Given the description of an element on the screen output the (x, y) to click on. 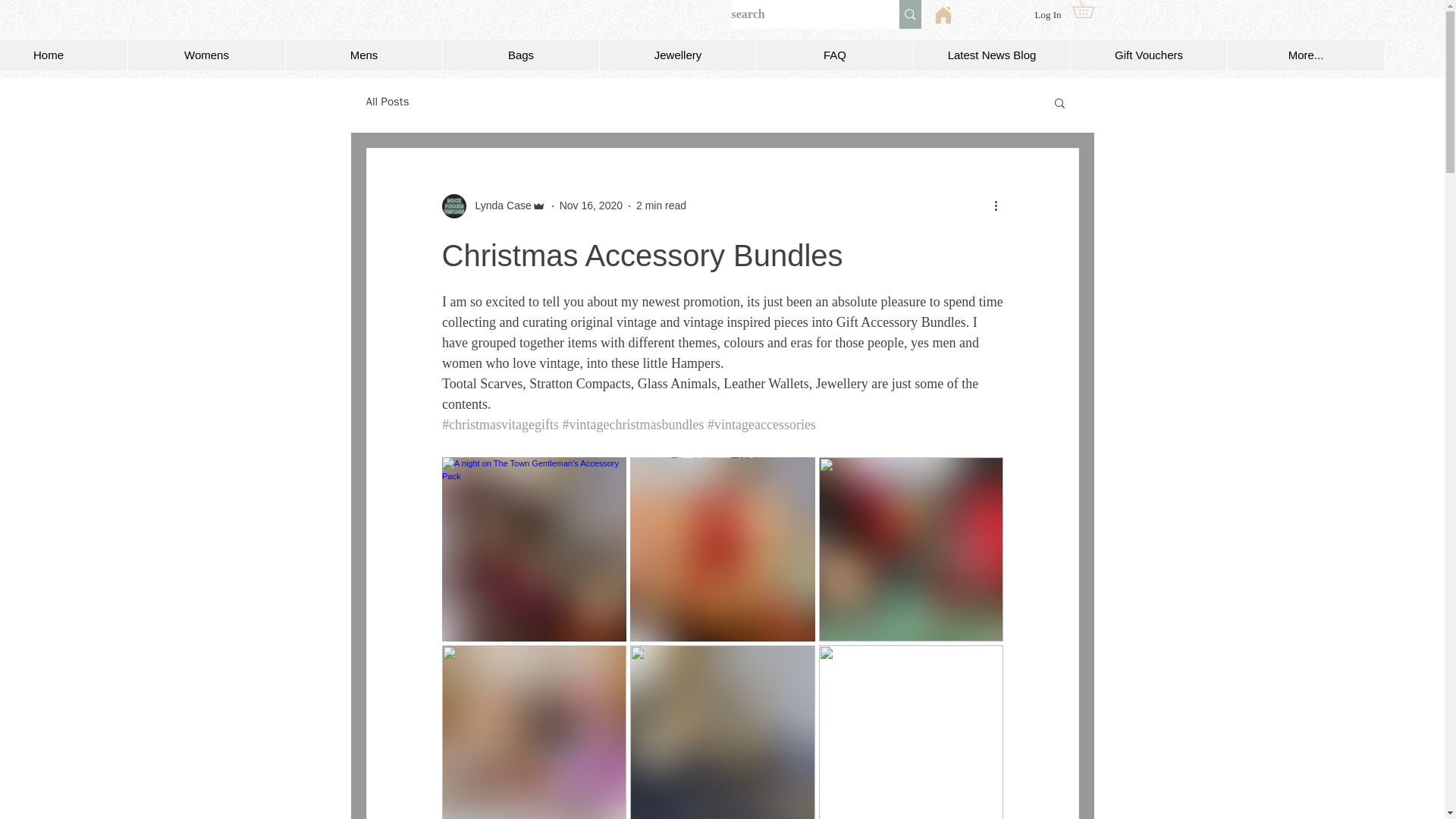
Home (64, 55)
Lynda Case (498, 205)
Log In (1047, 15)
2 min read (660, 205)
Nov 16, 2020 (591, 205)
